Given the description of an element on the screen output the (x, y) to click on. 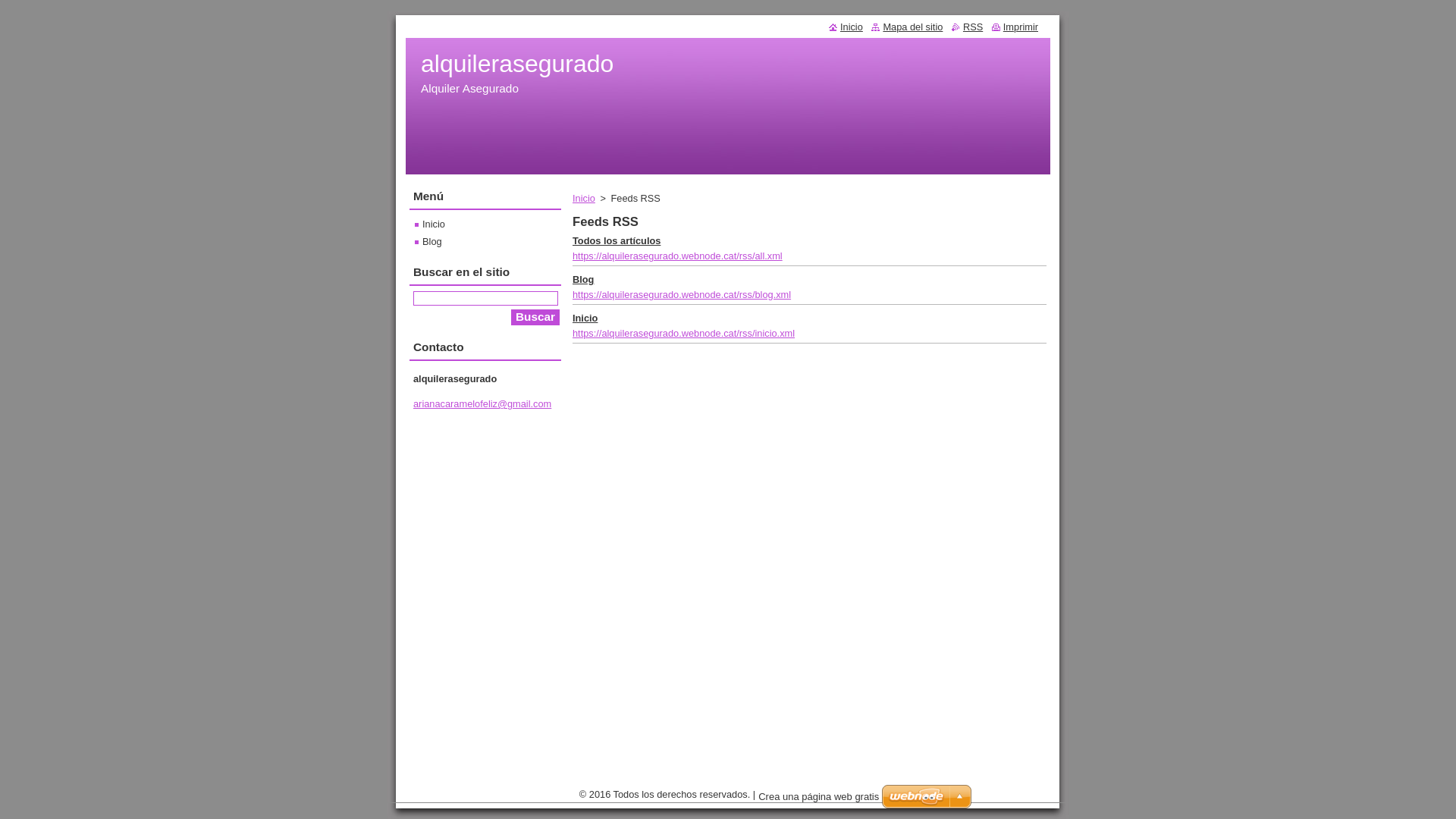
https://alquilerasegurado.webnode.cat/rss/blog.xml Element type: text (681, 294)
RSS Element type: text (966, 26)
Inicio Element type: text (584, 317)
alquilerasegurado Element type: text (516, 63)
Inicio Element type: text (583, 197)
Imprimir Element type: text (1014, 26)
Buscar Element type: text (535, 317)
Mapa del sitio Element type: text (906, 26)
arianacaramelofeliz@gmail.com Element type: text (482, 403)
Inicio Element type: text (845, 26)
Blog Element type: text (582, 279)
Inicio Element type: text (429, 223)
Blog Element type: text (428, 241)
https://alquilerasegurado.webnode.cat/rss/all.xml Element type: text (677, 255)
https://alquilerasegurado.webnode.cat/rss/inicio.xml Element type: text (683, 332)
